Given the description of an element on the screen output the (x, y) to click on. 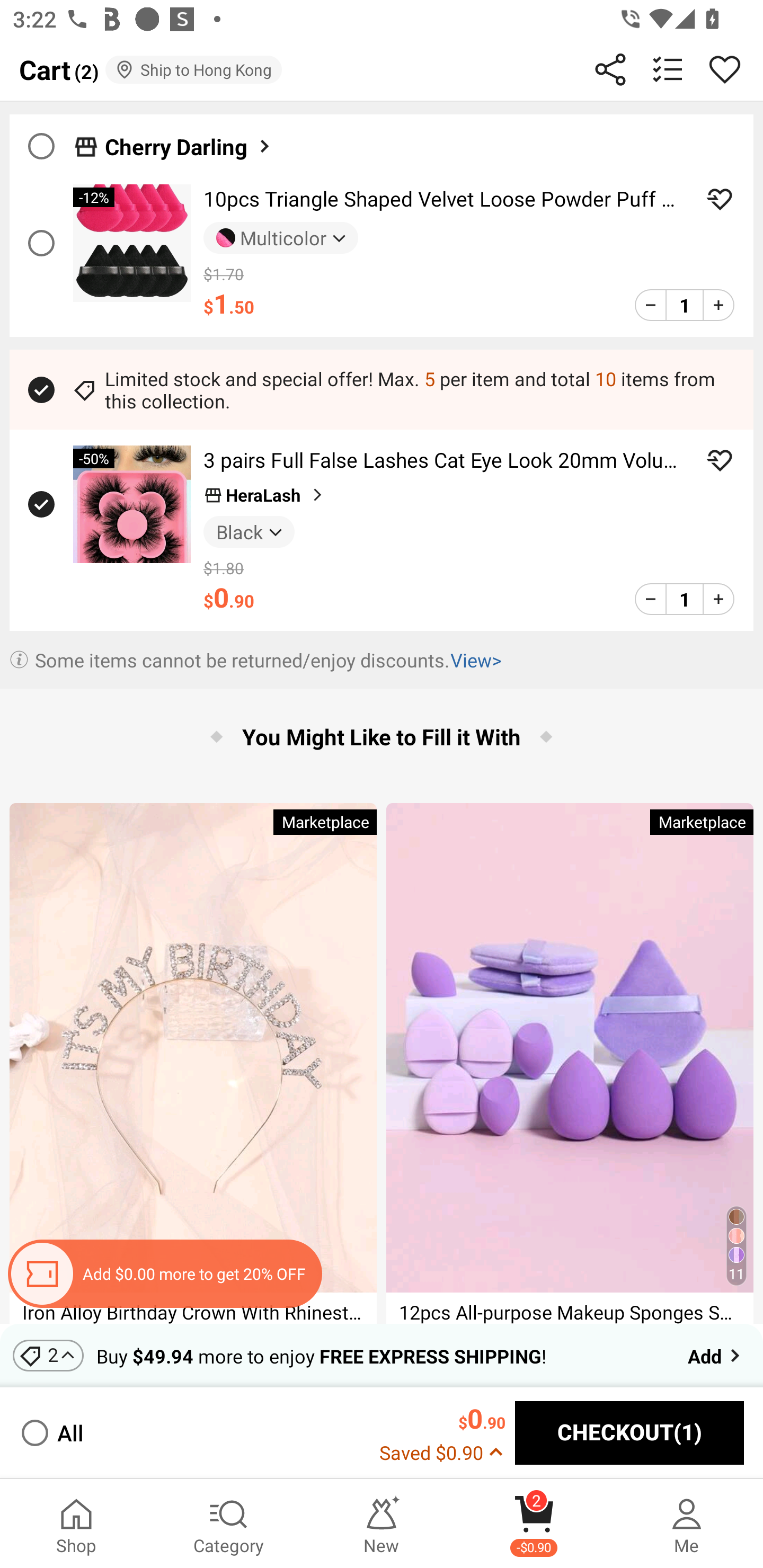
Wishlist (724, 68)
Share (610, 68)
batch delete (667, 68)
Ship to Hong Kong (193, 68)
Cherry Darling (381, 140)
Cherry Darling (189, 146)
ADD TO WISHLIST (719, 199)
 Multicolor (280, 238)
product quantity minus 1 (650, 304)
1 edit product quantity (684, 304)
product quantity add 1 (718, 304)
ADD TO WISHLIST (719, 460)
HeraLash (264, 494)
Black (248, 531)
product quantity minus 1 (650, 598)
1 edit product quantity (684, 598)
product quantity add 1 (718, 598)
Coupon Alert Add $0.00 more to get 20% OFF (164, 1273)
2 (48, 1355)
Add (715, 1355)
CHECKOUT(1) (629, 1432)
All (51, 1432)
Shop (76, 1523)
Category (228, 1523)
New (381, 1523)
Me (686, 1523)
